Given the description of an element on the screen output the (x, y) to click on. 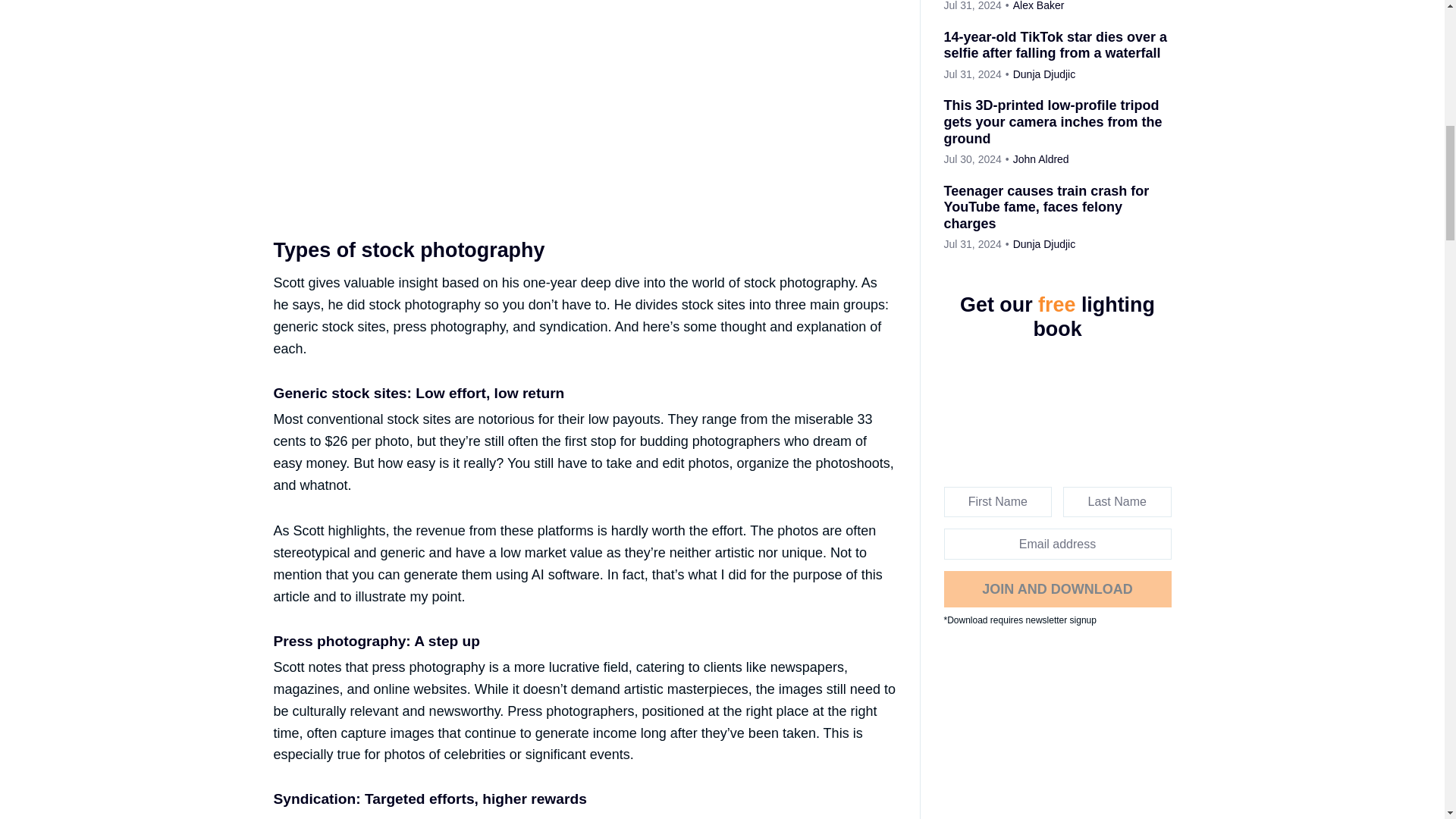
Join and Download (1056, 588)
